Given the description of an element on the screen output the (x, y) to click on. 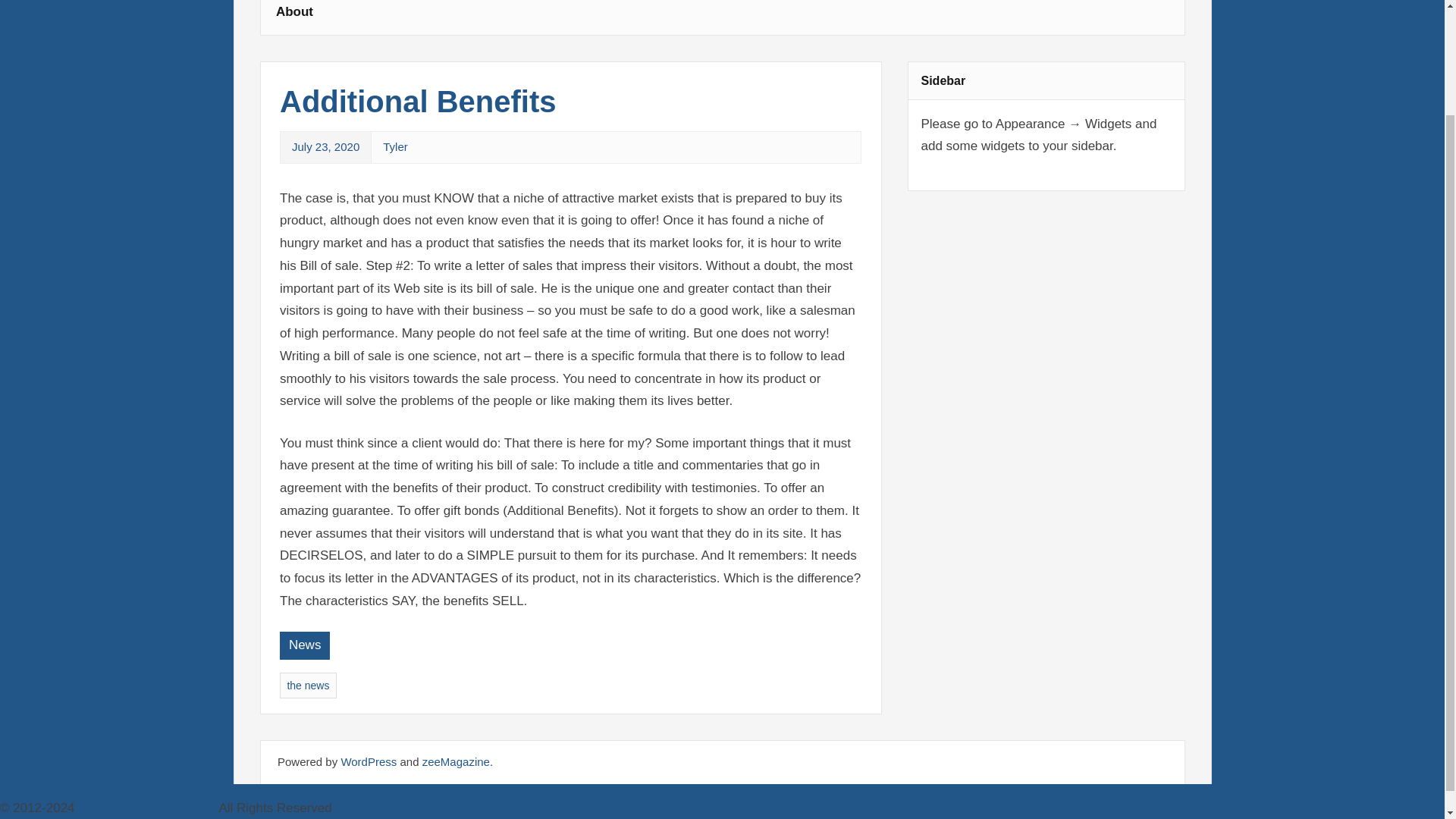
News (304, 645)
4:33 pm (325, 146)
zeeMagazine (455, 761)
View all posts by Tyler (394, 146)
Online Gold Exchange (146, 807)
zeeMagazine WordPress Theme (455, 761)
Tyler (394, 146)
July 23, 2020 (325, 146)
the news (307, 685)
WordPress (368, 761)
About (294, 17)
WordPress (368, 761)
